Given the description of an element on the screen output the (x, y) to click on. 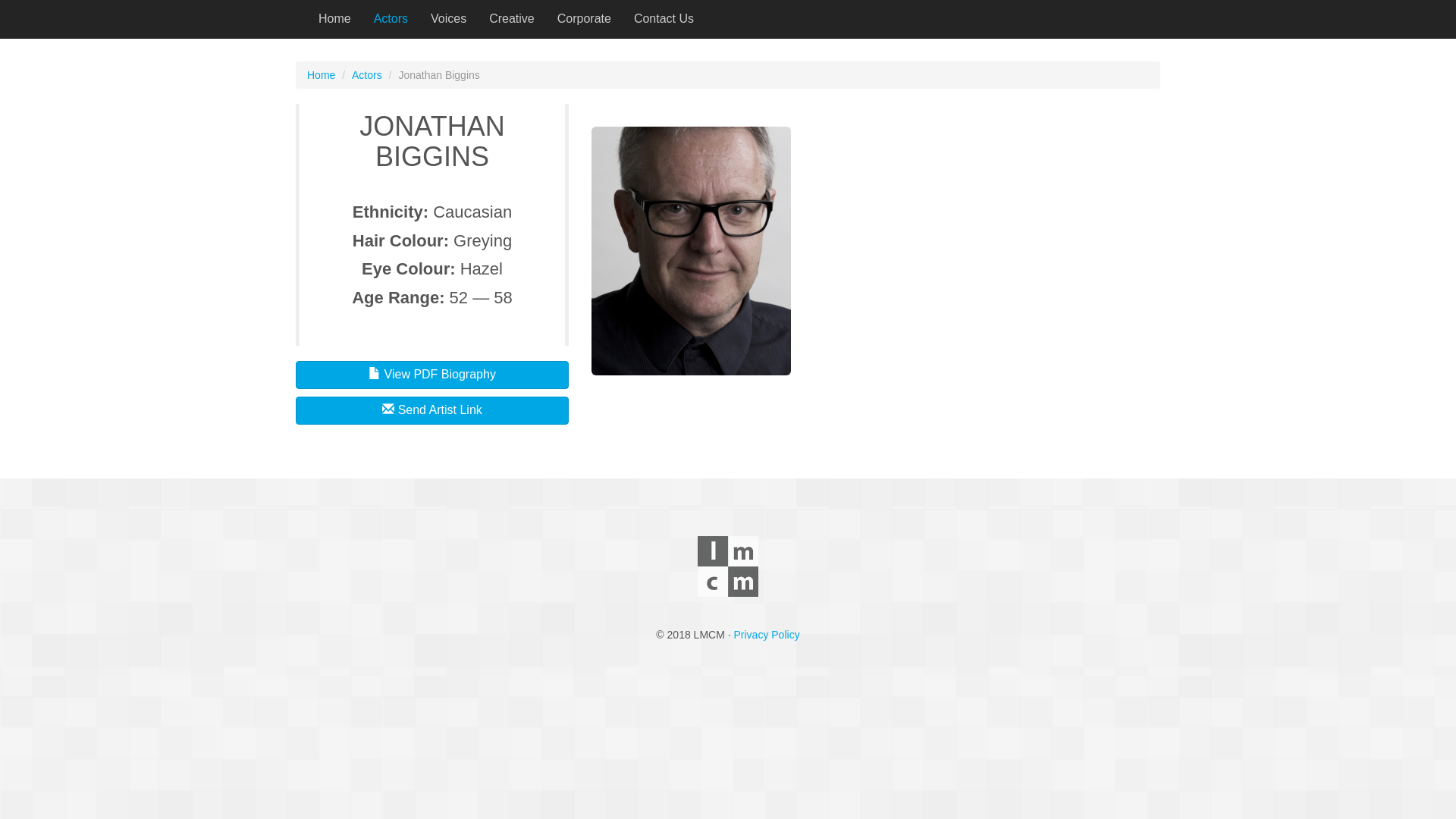
Voices Element type: text (448, 18)
View PDF Biography Element type: text (431, 374)
Send Artist Link Element type: text (431, 410)
Corporate Element type: text (584, 18)
Actors Element type: text (390, 18)
Home Element type: text (321, 75)
Privacy Policy Element type: text (767, 634)
Home Element type: text (334, 18)
Contact Us Element type: text (663, 18)
Actors Element type: text (366, 75)
Creative Element type: text (511, 18)
